Given the description of an element on the screen output the (x, y) to click on. 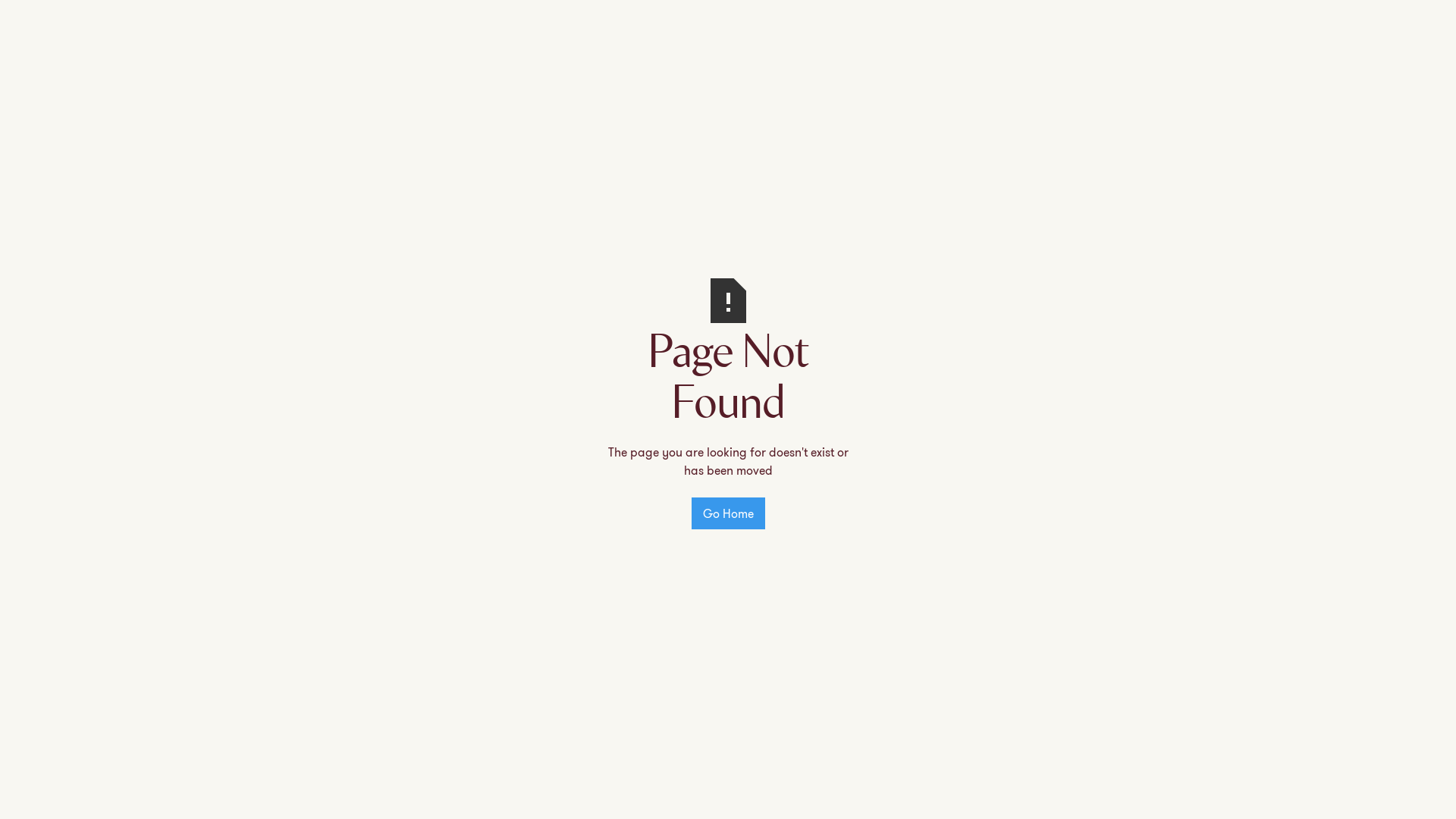
Go Home Element type: text (728, 513)
